Given the description of an element on the screen output the (x, y) to click on. 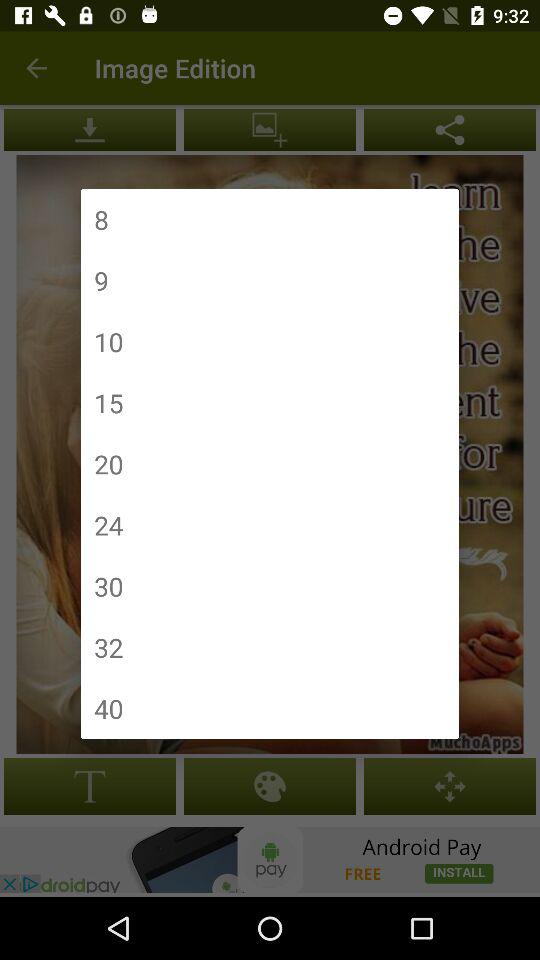
launch 9 (101, 280)
